Given the description of an element on the screen output the (x, y) to click on. 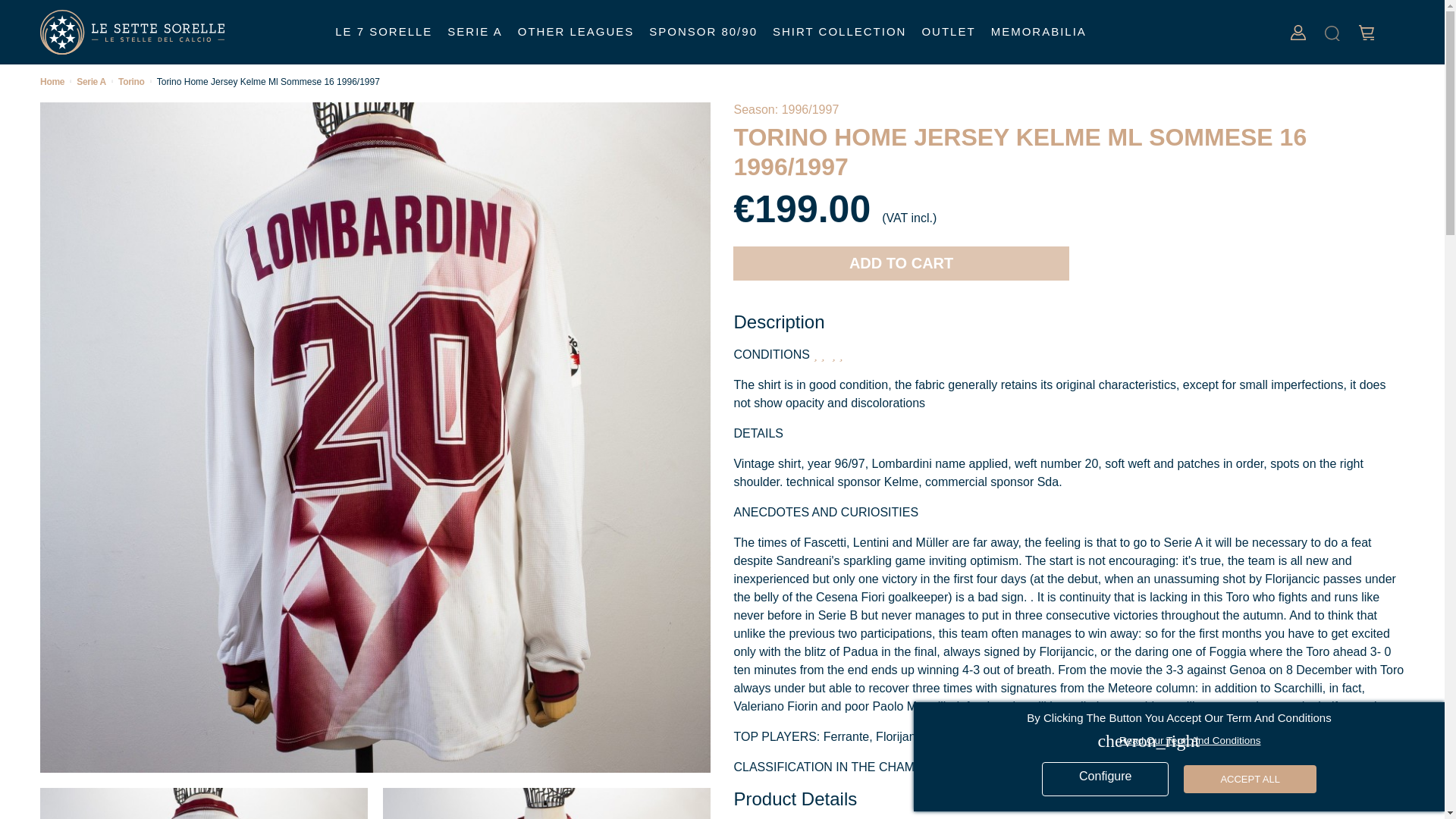
SERIE A (474, 31)
LE 7 SORELLE (383, 31)
